Given the description of an element on the screen output the (x, y) to click on. 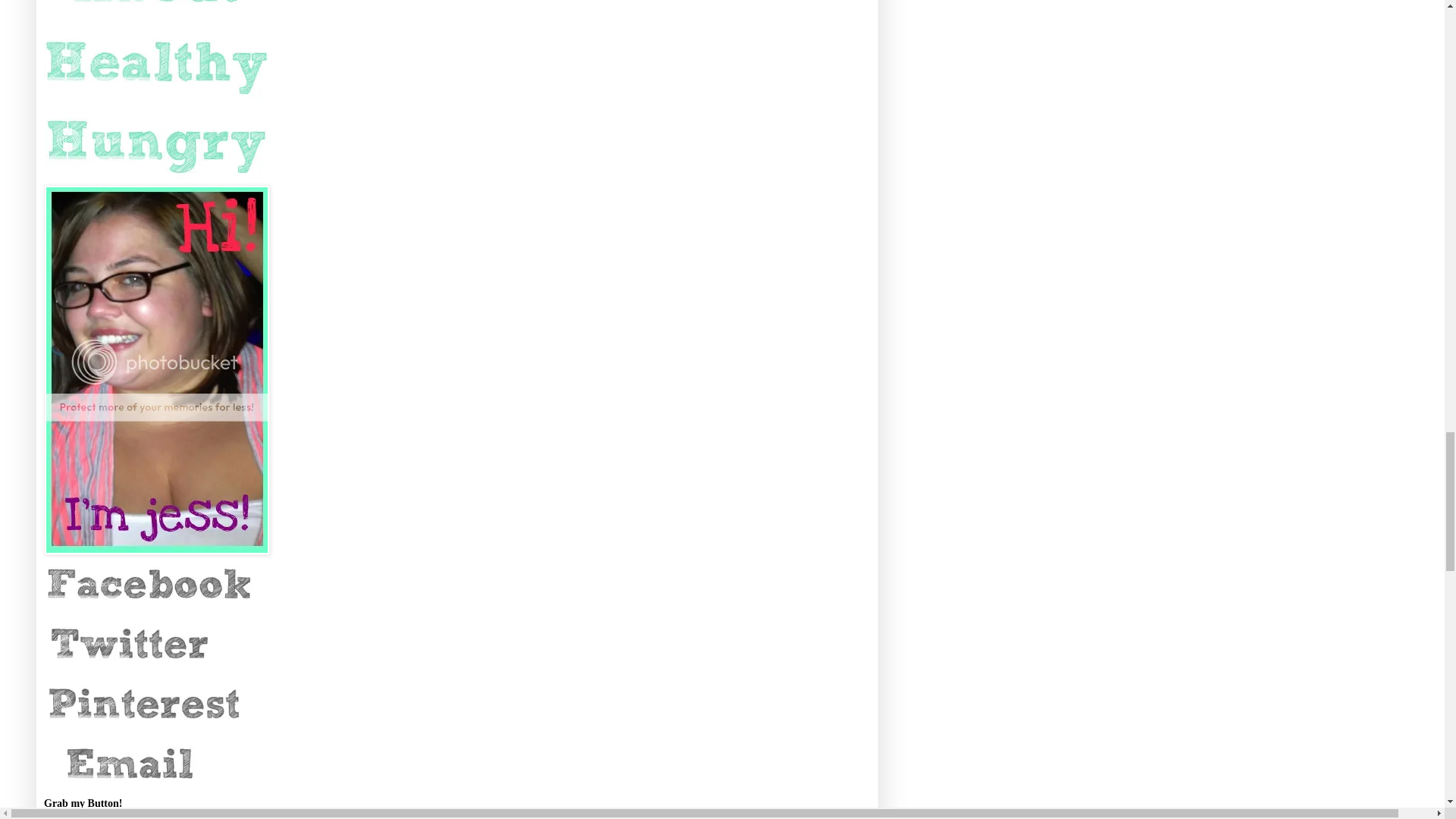
Healthy (150, 586)
Healthy (156, 12)
Healthy (156, 143)
Healthy (156, 65)
